Given the description of an element on the screen output the (x, y) to click on. 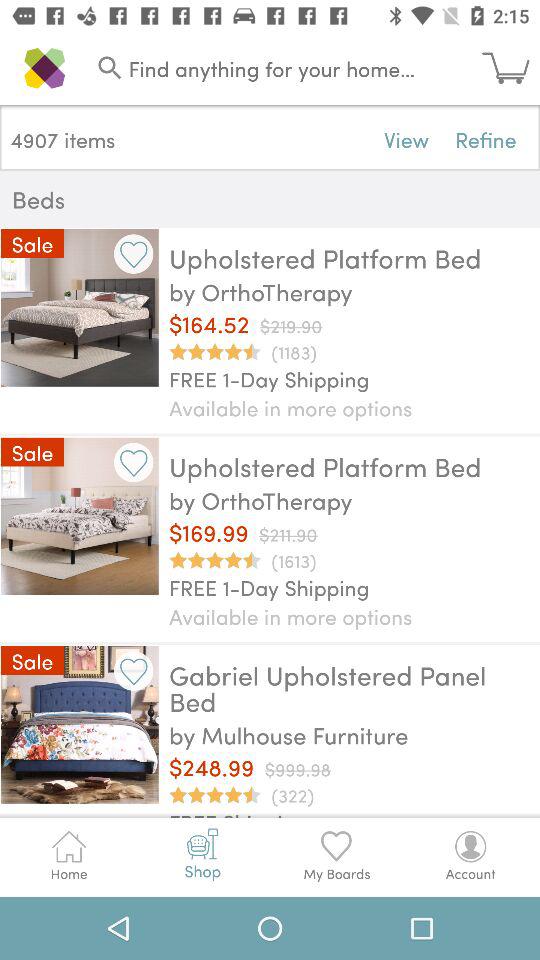
mark as favorite (133, 462)
